Given the description of an element on the screen output the (x, y) to click on. 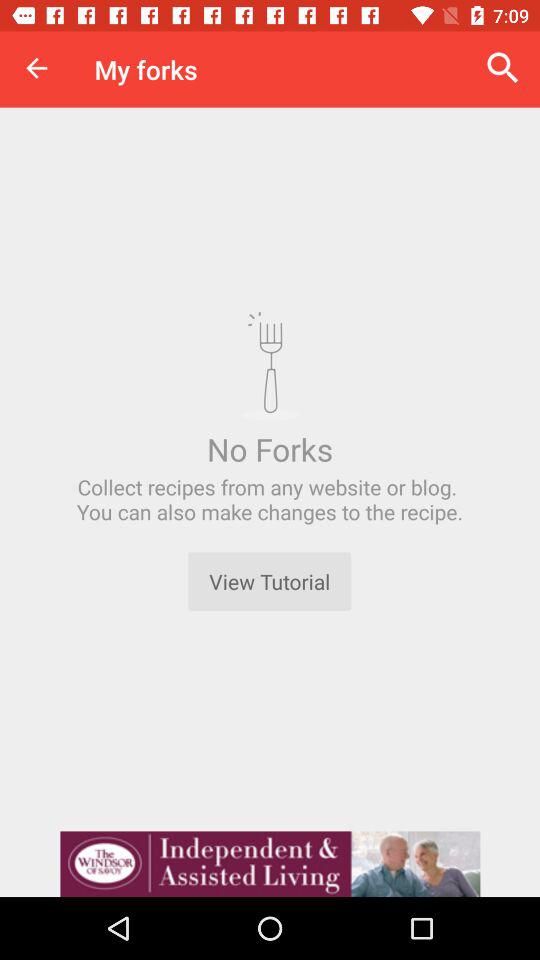
view advertisement (270, 864)
